Given the description of an element on the screen output the (x, y) to click on. 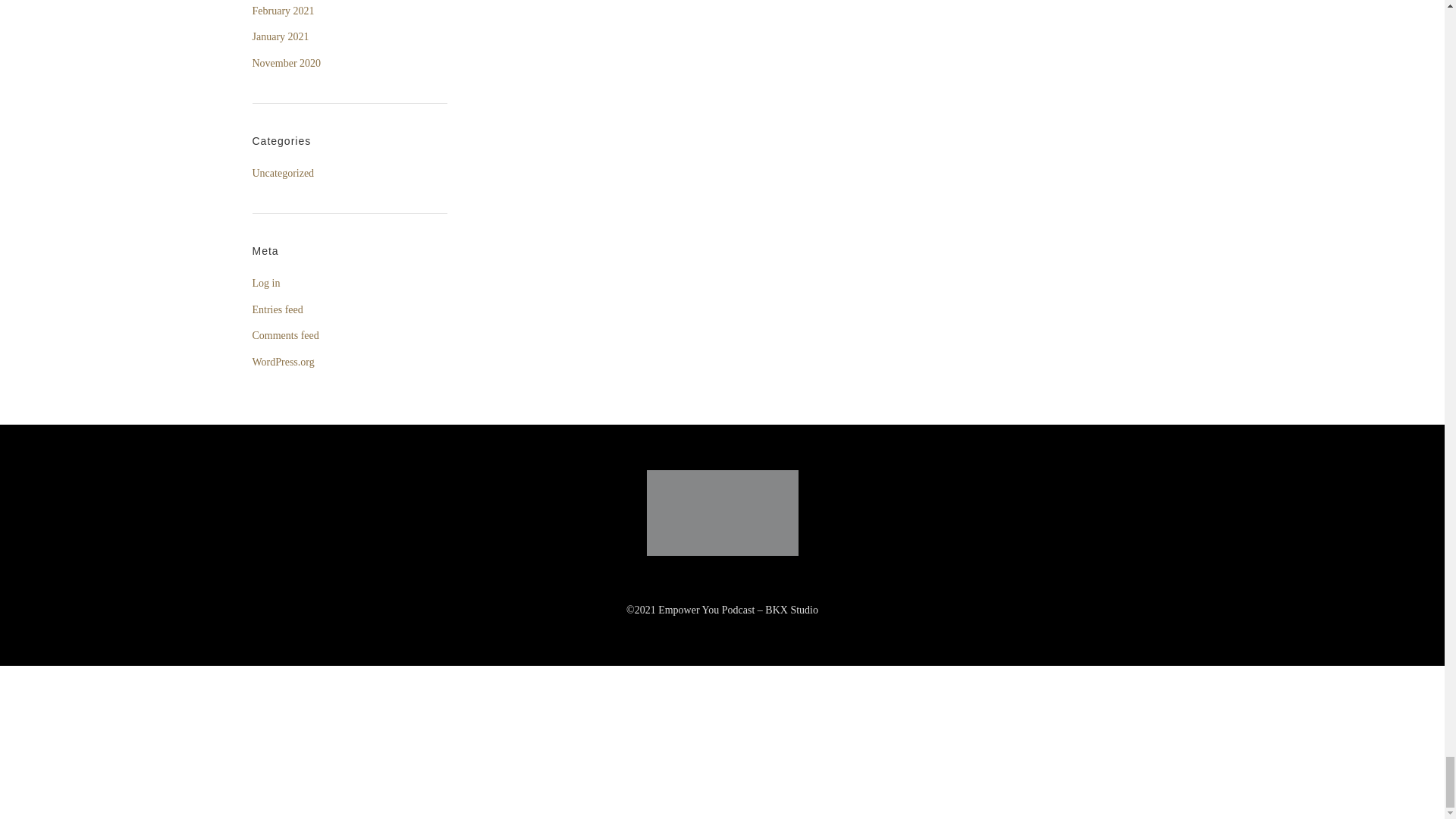
January 2021 (279, 36)
February 2021 (282, 11)
